Given the description of an element on the screen output the (x, y) to click on. 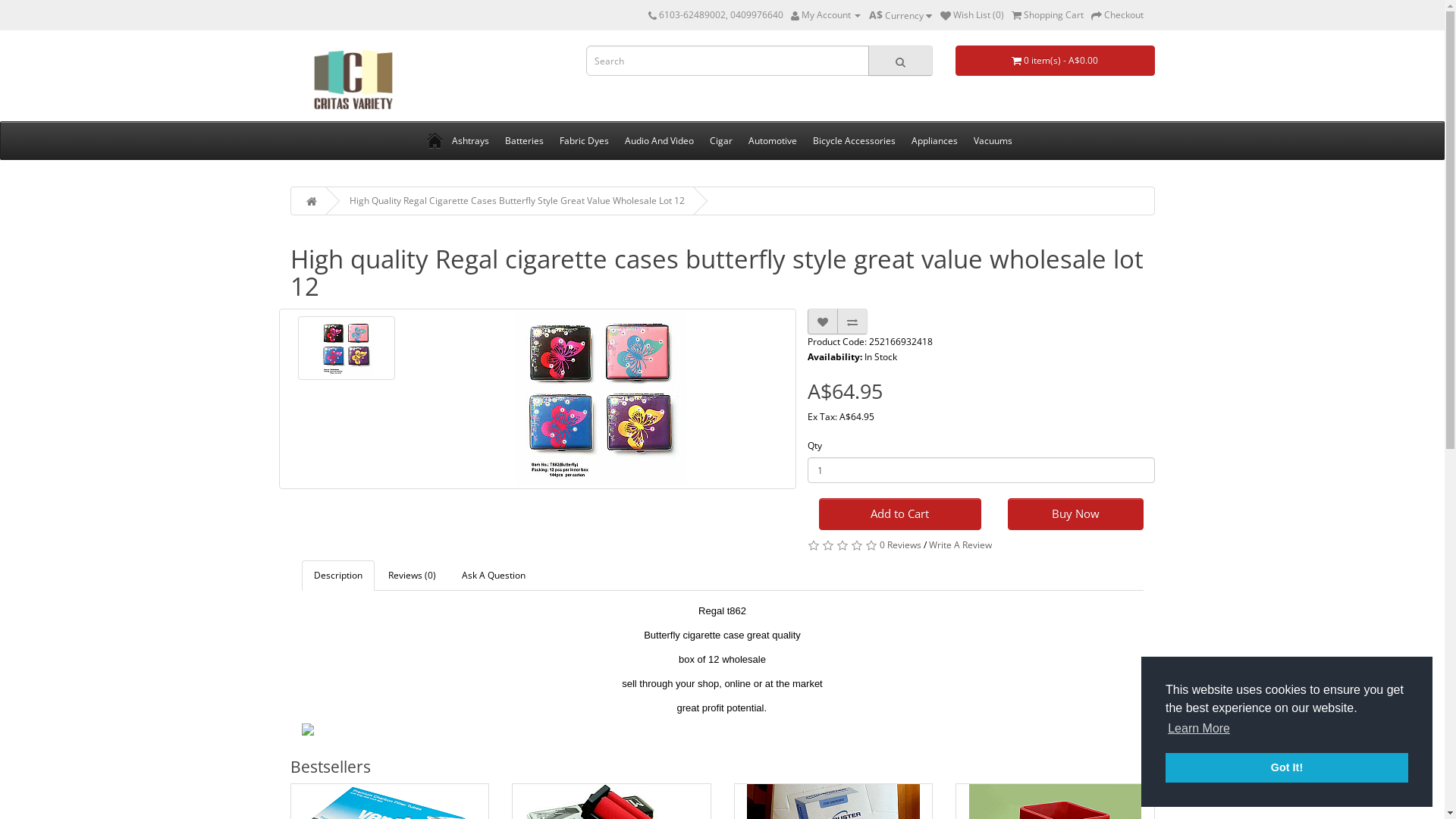
Got It! Element type: text (1286, 767)
Appliances Element type: text (934, 141)
Batteries Element type: text (524, 141)
Checkout Element type: text (1116, 14)
Learn More Element type: text (1198, 728)
Automotive Element type: text (771, 141)
critasvariety Element type: hover (353, 79)
Add to Cart Element type: text (900, 514)
Shopping Cart Element type: text (1047, 14)
A$ Currency Element type: text (899, 15)
0 Reviews Element type: text (900, 544)
  Element type: text (434, 141)
Fabric Dyes Element type: text (584, 141)
Description Element type: text (337, 574)
Write A Review Element type: text (959, 544)
Vacuums Element type: text (992, 141)
0 item(s) - A$0.00 Element type: text (1054, 60)
Audio And Video Element type: text (659, 141)
Buy Now Element type: text (1074, 514)
Ask A Question Element type: text (492, 574)
Bicycle Accessories Element type: text (854, 141)
Wish List (0) Element type: text (972, 14)
Ashtrays Element type: text (470, 141)
Cigar Element type: text (721, 141)
My Account Element type: text (824, 14)
Reviews (0) Element type: text (412, 574)
